Given the description of an element on the screen output the (x, y) to click on. 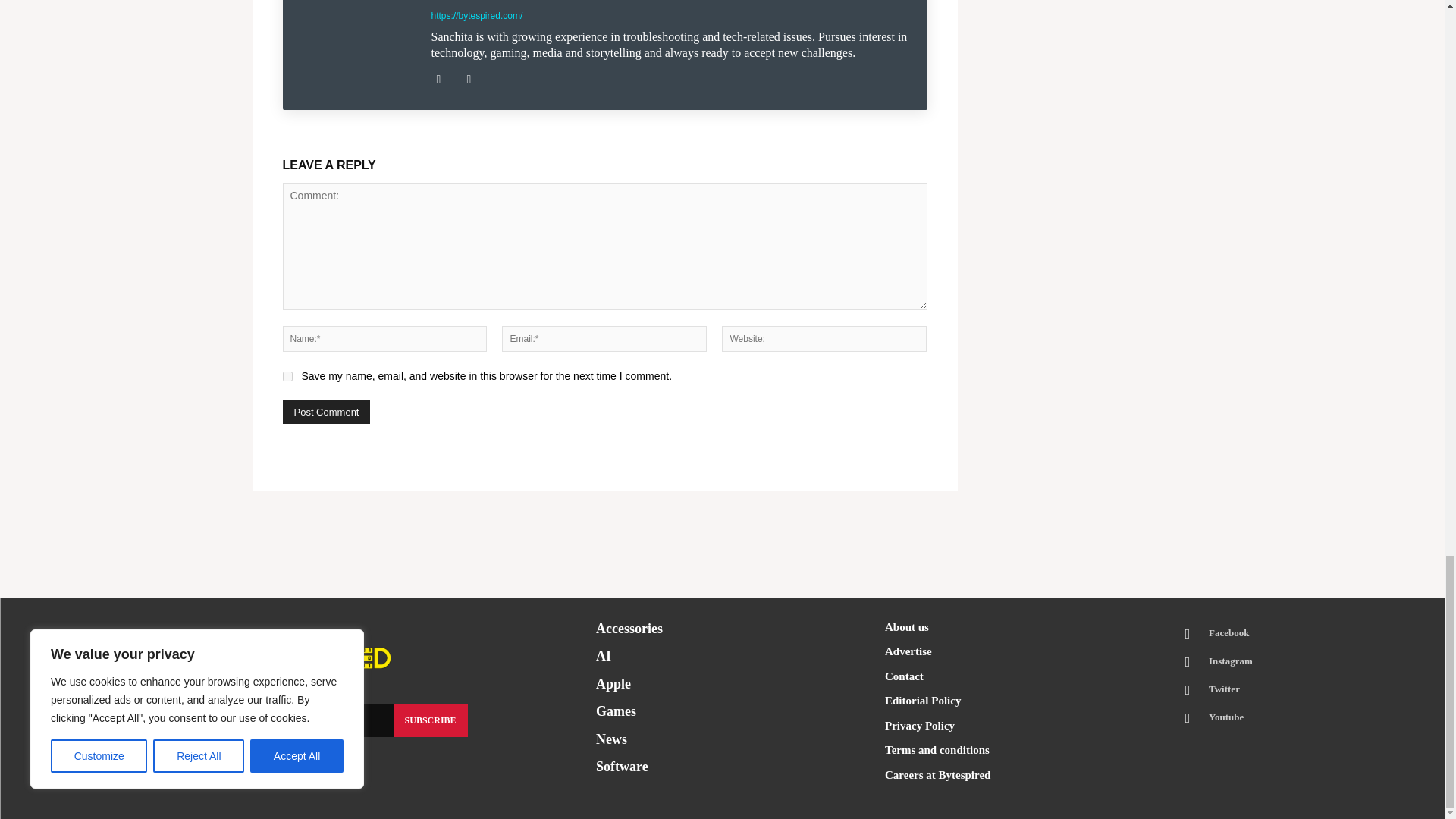
yes (287, 376)
Post Comment (325, 412)
